Given the description of an element on the screen output the (x, y) to click on. 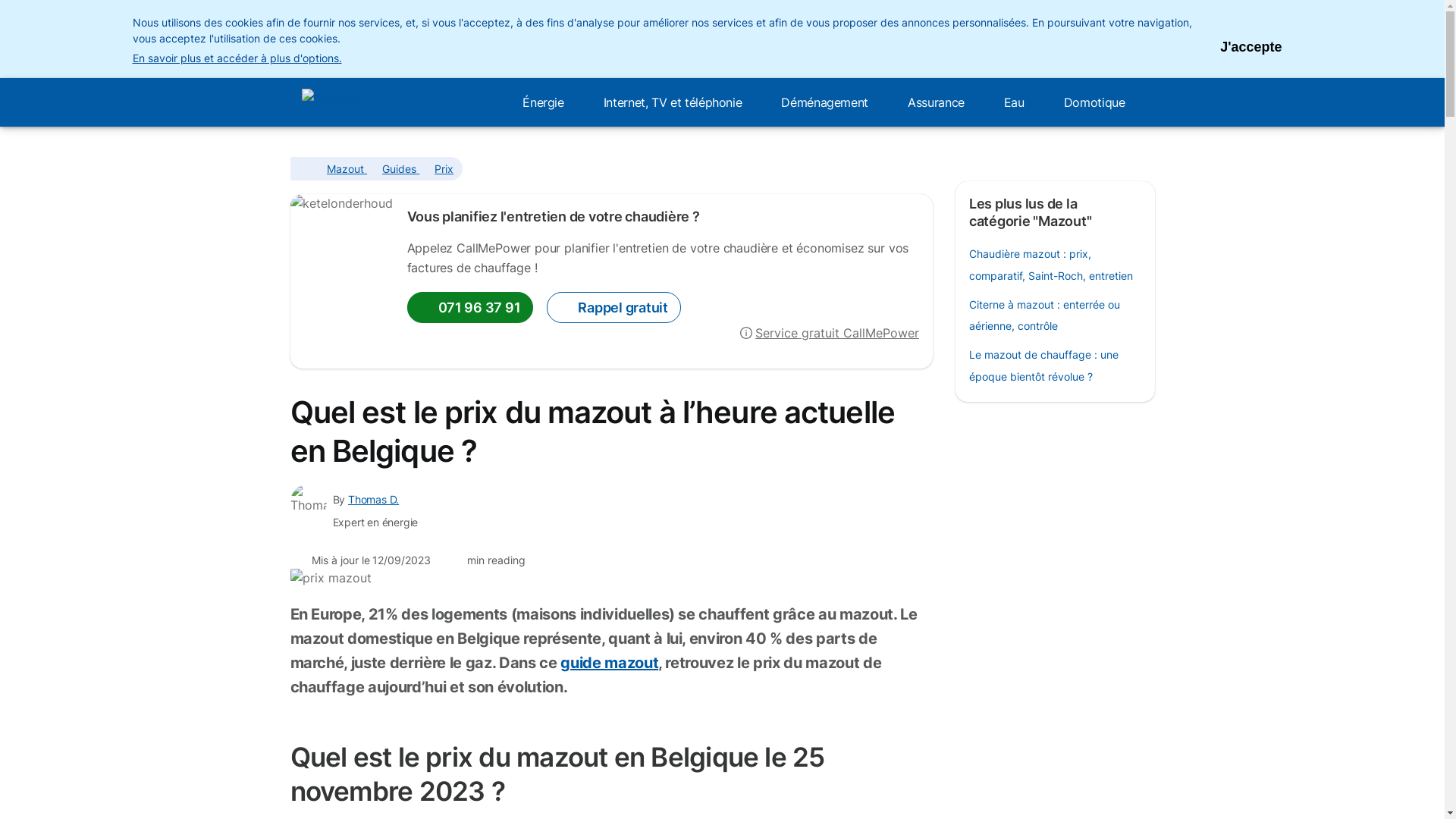
Domotique Element type: text (1098, 102)
guide mazout Element type: text (609, 662)
Guides Element type: text (400, 168)
Prix Element type: text (443, 168)
Rappel gratuit Element type: text (613, 307)
J'accepte Element type: text (1250, 38)
071 96 37 91 Element type: text (469, 307)
Thomas D. Element type: text (373, 498)
Service gratuit CallMePower Element type: text (829, 332)
Home Element type: text (302, 168)
Assurance Element type: text (940, 102)
Eau Element type: text (1018, 102)
Mazout Element type: text (346, 168)
